Given the description of an element on the screen output the (x, y) to click on. 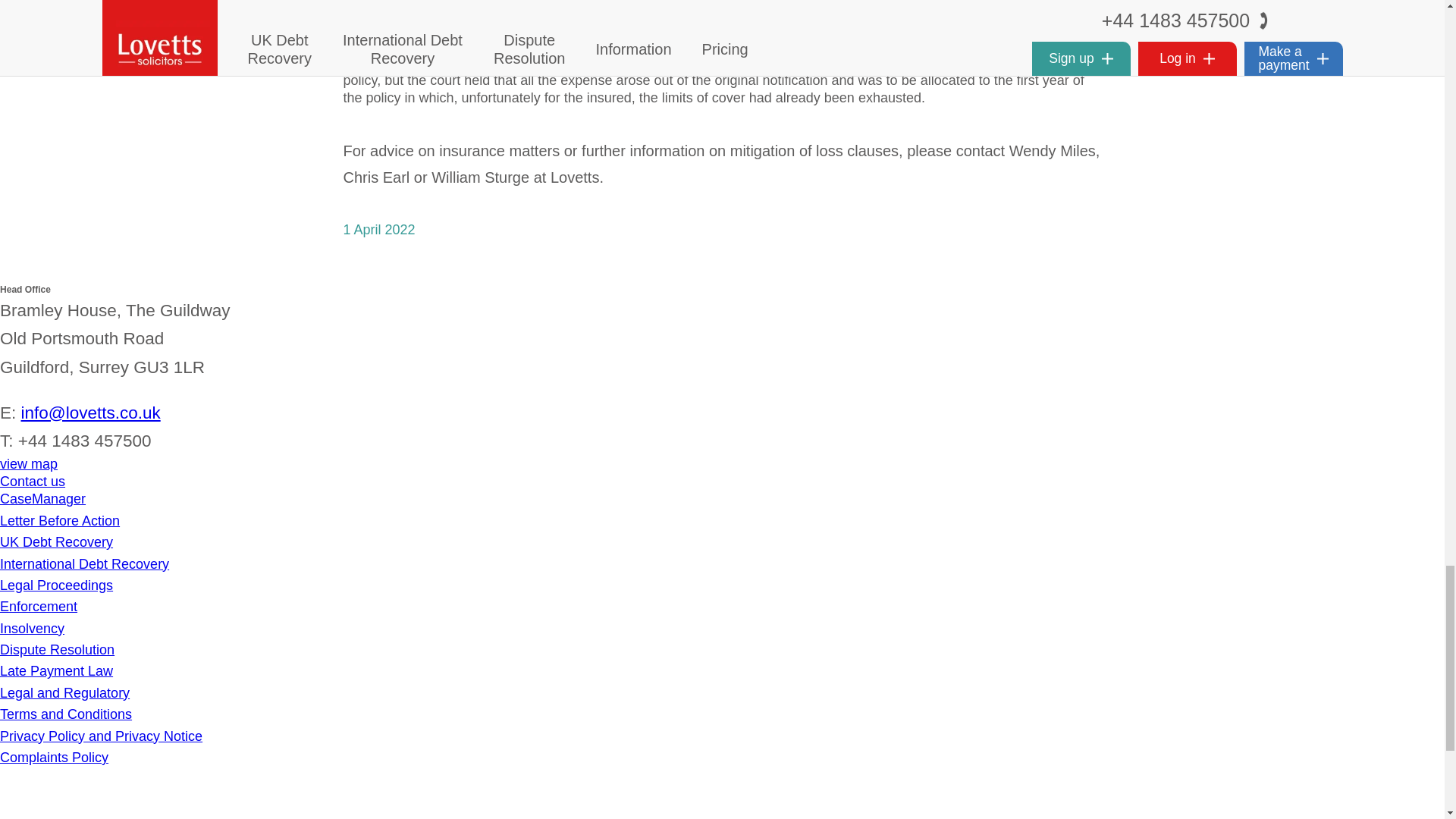
Privacy Policy and Privacy Notice (101, 735)
CaseManager (42, 498)
Terms and Conditions (66, 713)
Dispute Resolution (57, 649)
view map (29, 463)
International Debt Recovery (84, 563)
Enforcement (38, 606)
Letter Before Action (59, 520)
UK Debt Recovery (56, 541)
Late Payment Law (56, 670)
Contact us (32, 481)
Legal Proceedings (56, 585)
Insolvency (32, 628)
Legal and Regulatory (64, 693)
Complaints Policy (53, 757)
